Given the description of an element on the screen output the (x, y) to click on. 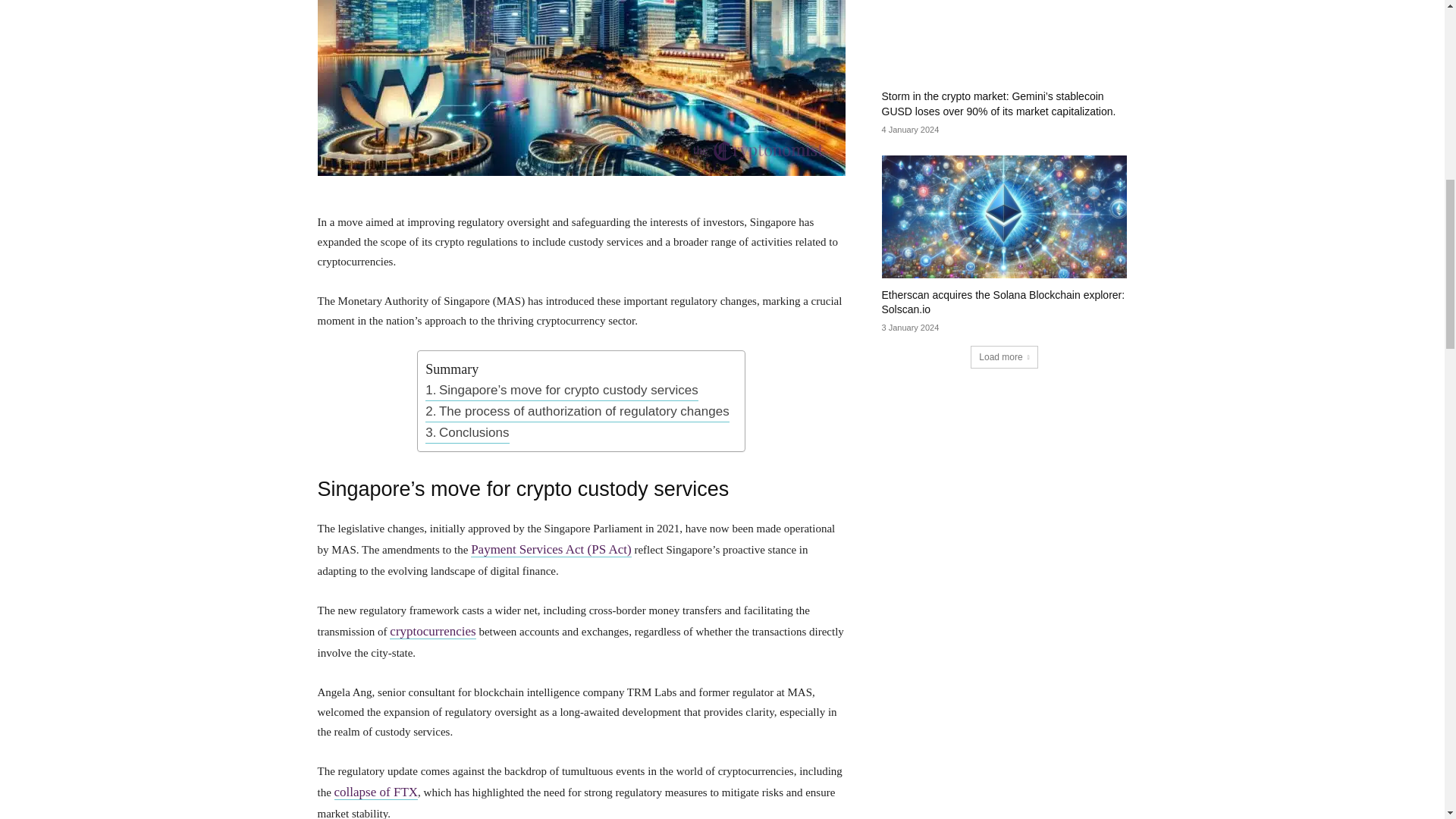
singapore custodia crypto (580, 88)
The process of authorization of regulatory changes (577, 411)
Conclusions (466, 432)
